Given the description of an element on the screen output the (x, y) to click on. 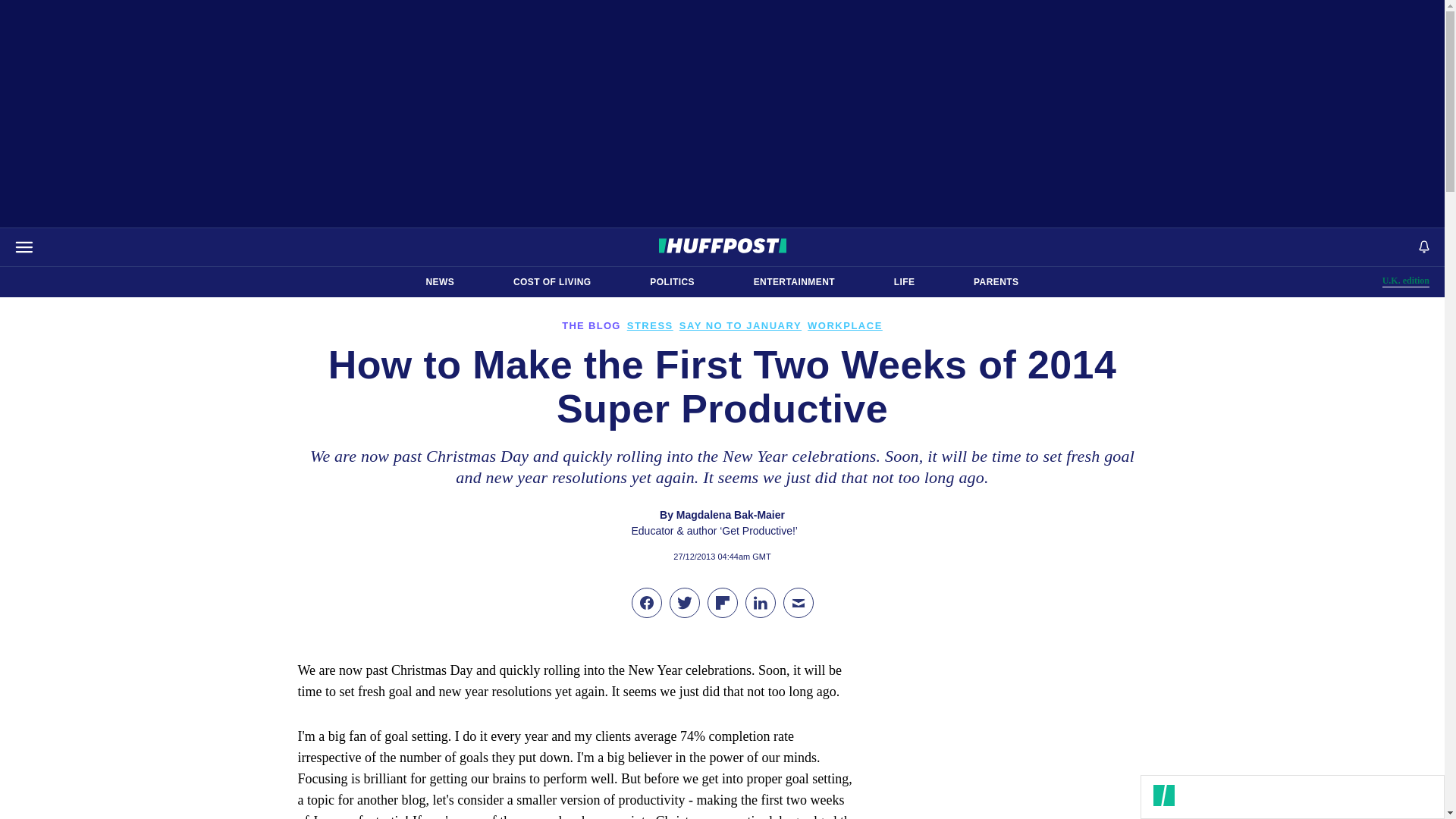
PARENTS (995, 281)
ENTERTAINMENT (794, 281)
NEWS (440, 281)
POLITICS (671, 281)
LIFE (904, 281)
COST OF LIVING (552, 281)
